Given the description of an element on the screen output the (x, y) to click on. 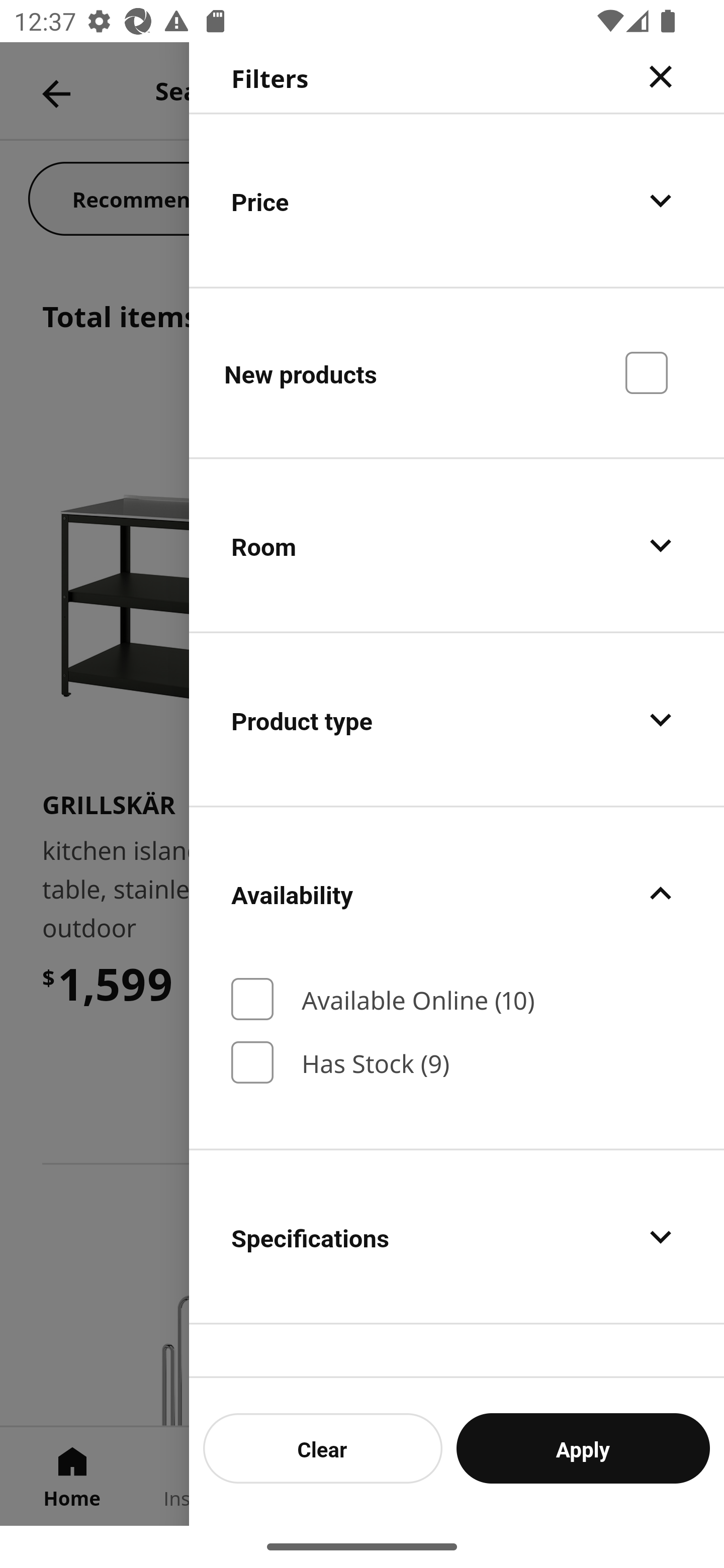
Price (456, 200)
New products (456, 371)
Room (456, 545)
Product type (456, 719)
Availability (456, 893)
Available Online (10) (456, 999)
Has Stock (9) (456, 1062)
Specifications (456, 1236)
Clear (322, 1447)
Apply (583, 1447)
